Given the description of an element on the screen output the (x, y) to click on. 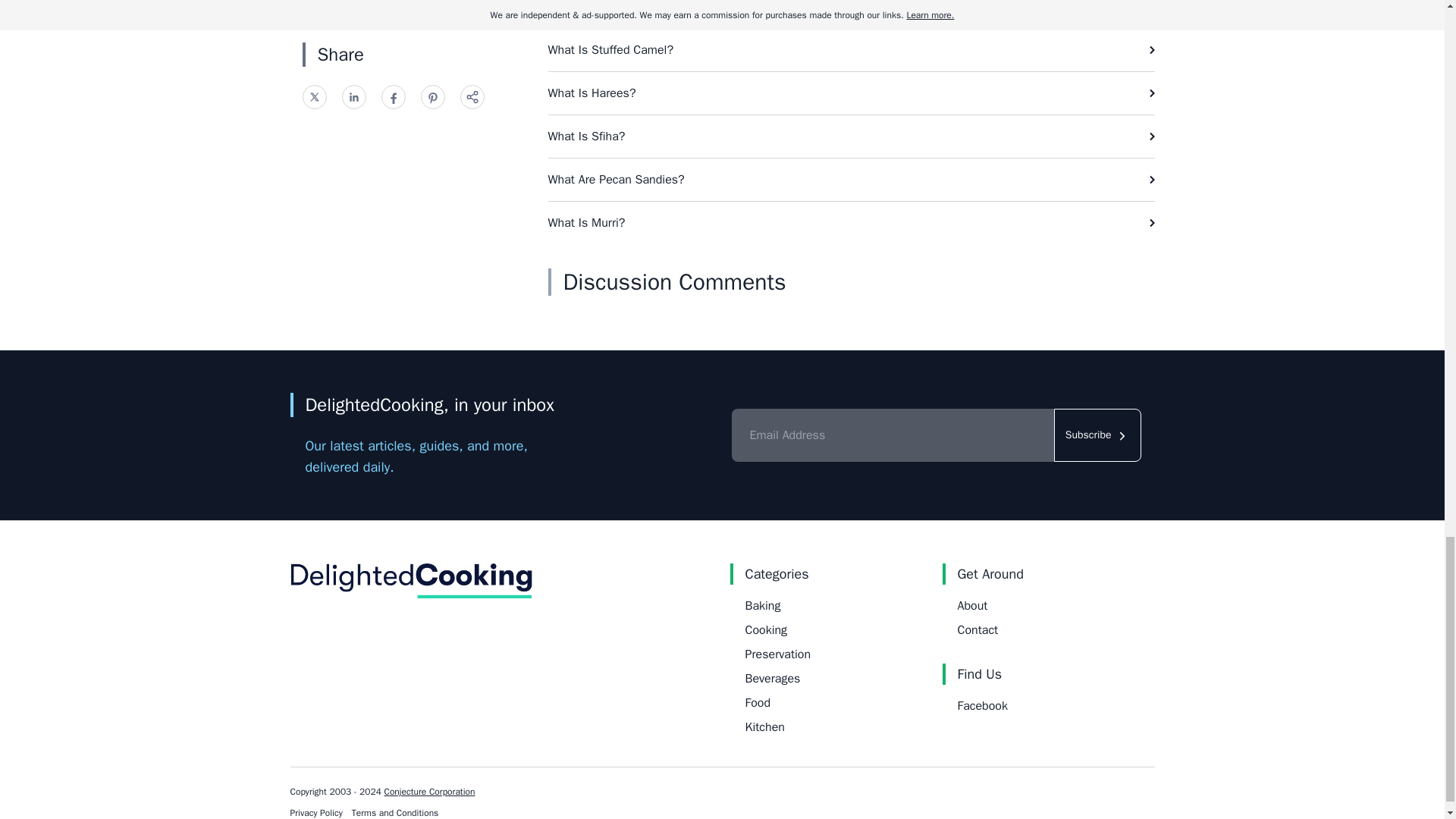
What Is Skillet Pizza? (850, 13)
What Is Stuffed Camel? (850, 49)
